Given the description of an element on the screen output the (x, y) to click on. 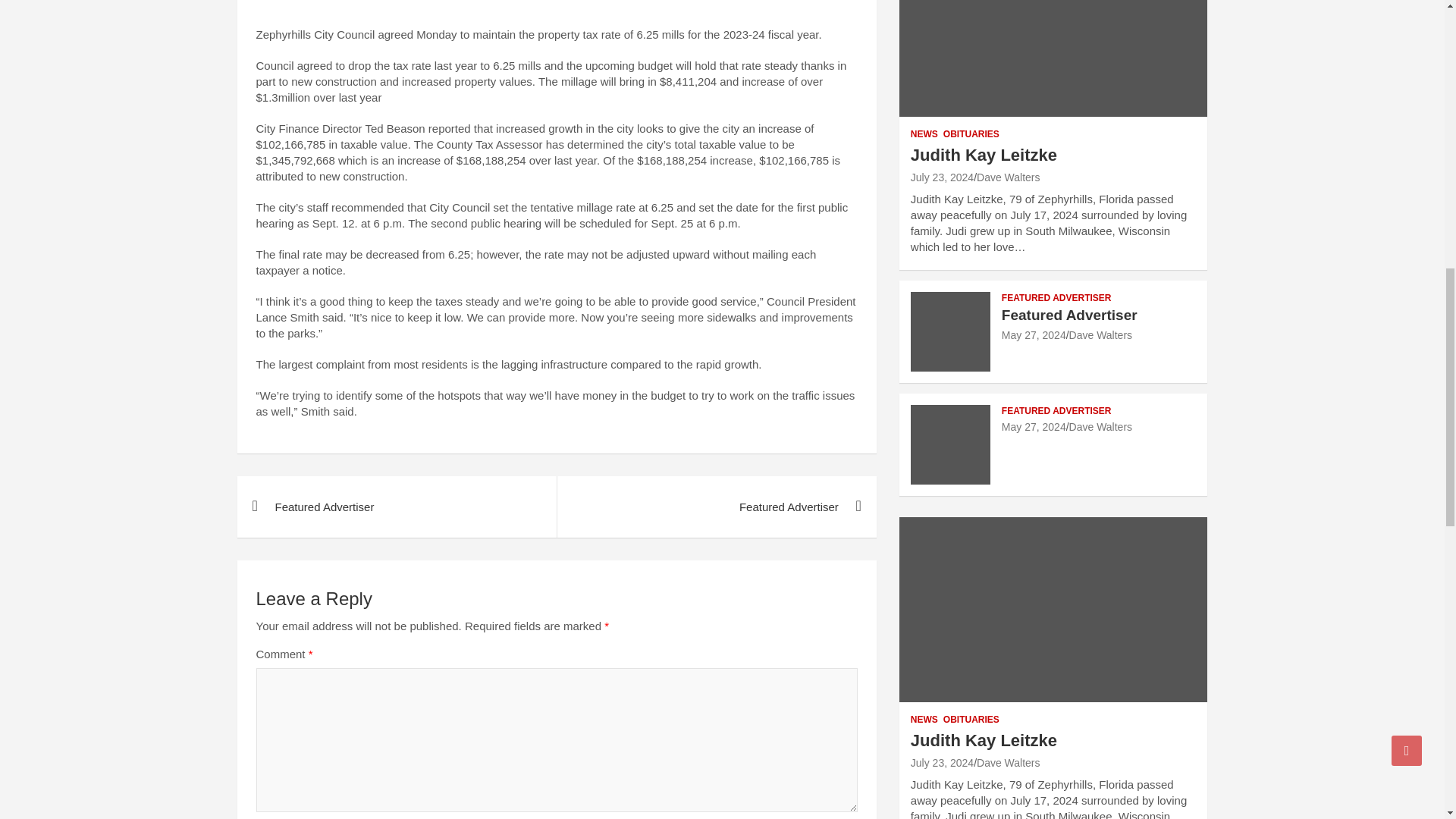
Featured Advertiser (395, 506)
Featured Advertiser (1033, 335)
Judith Kay Leitzke (984, 154)
Featured Advertiser (716, 506)
Judith Kay Leitzke (942, 177)
OBITUARIES (970, 133)
NEWS (924, 133)
Judith Kay Leitzke (942, 762)
July 23, 2024 (942, 177)
